Given the description of an element on the screen output the (x, y) to click on. 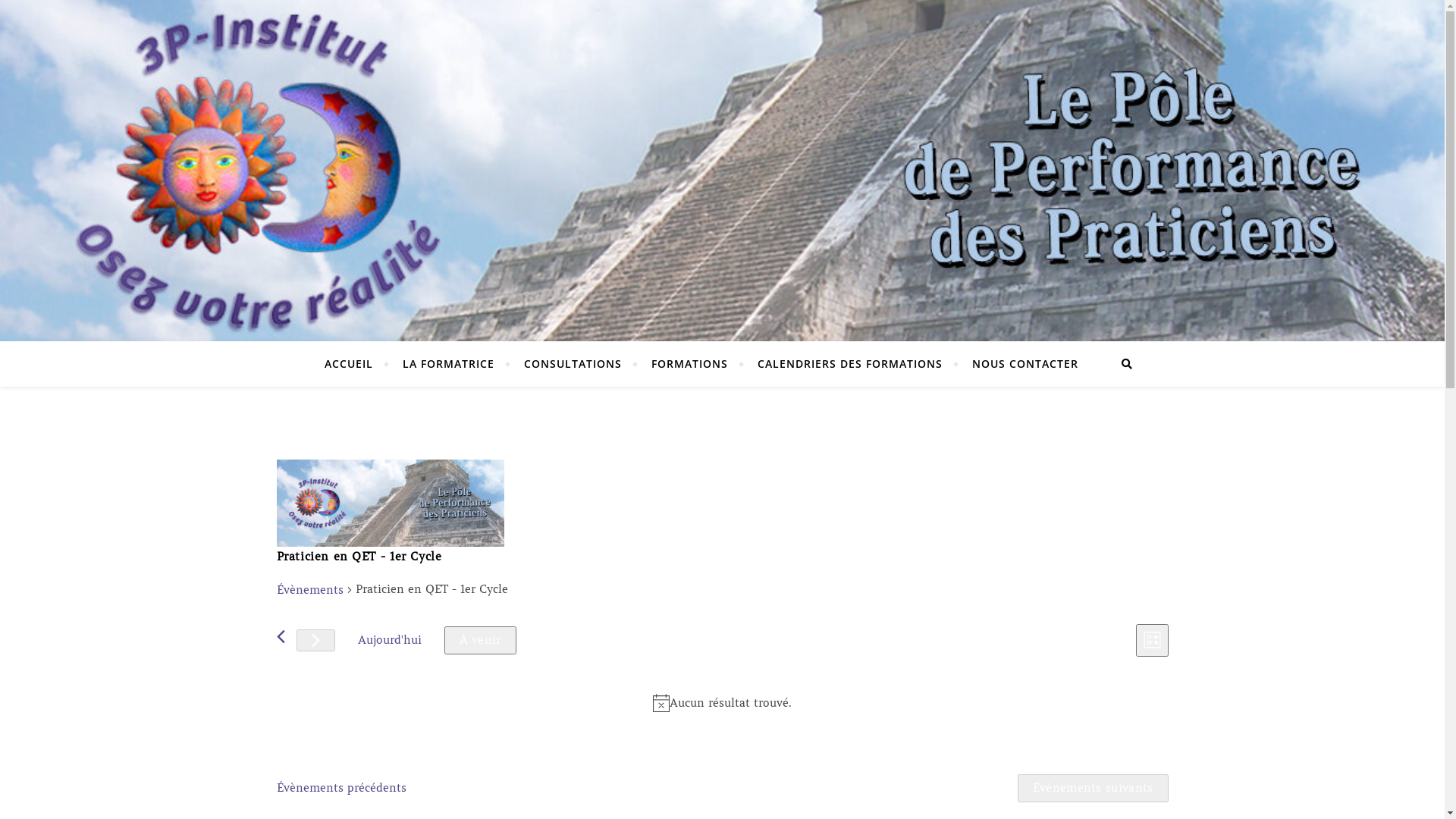
CONSULTATIONS Element type: text (572, 363)
NOUS CONTACTER Element type: text (1018, 363)
FORMATIONS Element type: text (689, 363)
Aujourd'hui Element type: text (388, 640)
LA FORMATRICE Element type: text (448, 363)
ACCUEIL Element type: text (354, 363)
Liste Element type: text (1151, 640)
CALENDRIERS DES FORMATIONS Element type: text (849, 363)
